Given the description of an element on the screen output the (x, y) to click on. 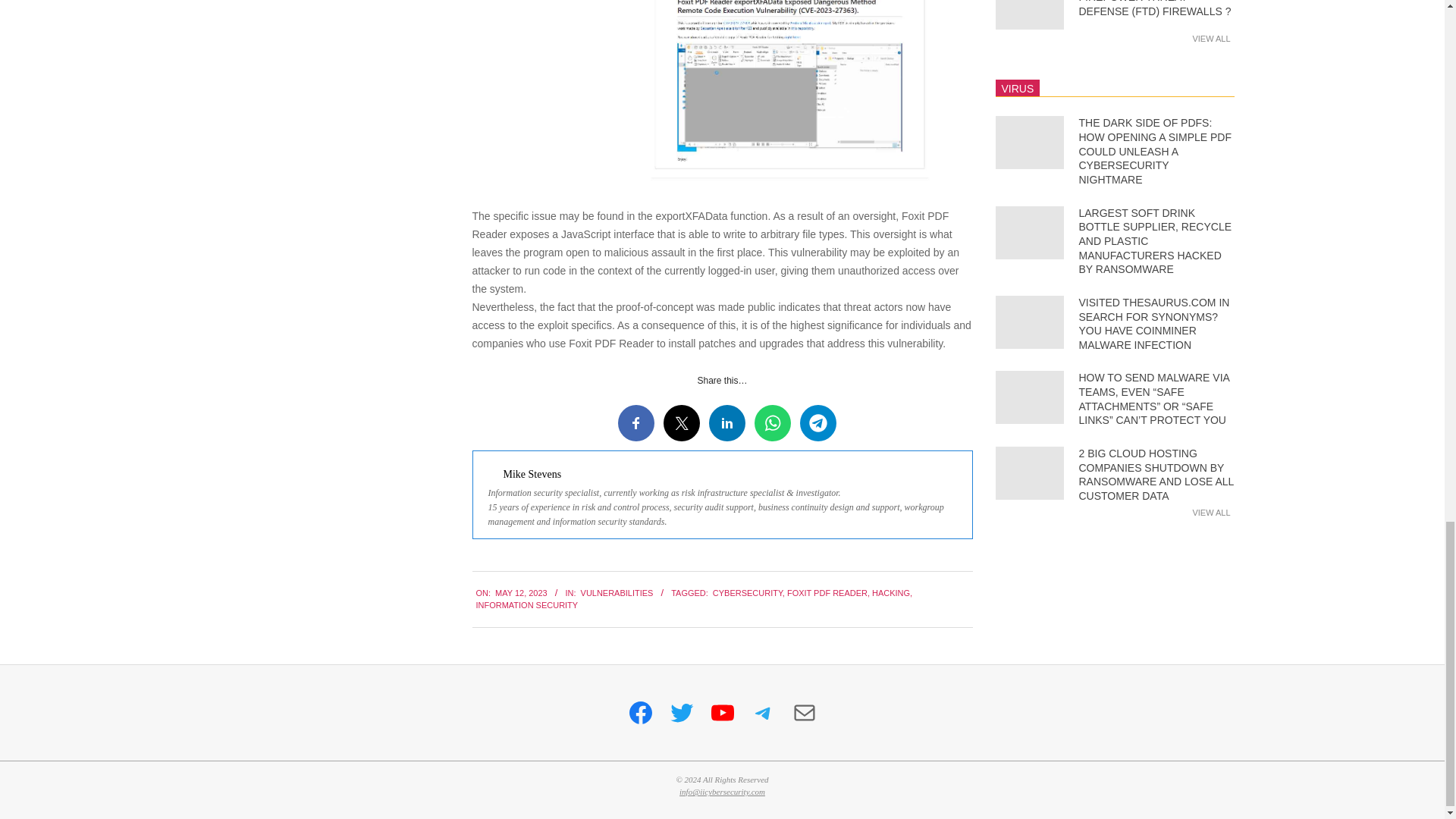
Friday, May 12, 2023, 5:12 pm (521, 592)
CYBERSECURITY (748, 592)
FOXIT PDF READER (827, 592)
HACKING (891, 592)
VULNERABILITIES (616, 592)
INFORMATION SECURITY (527, 604)
Mike Stevens (532, 473)
